Given the description of an element on the screen output the (x, y) to click on. 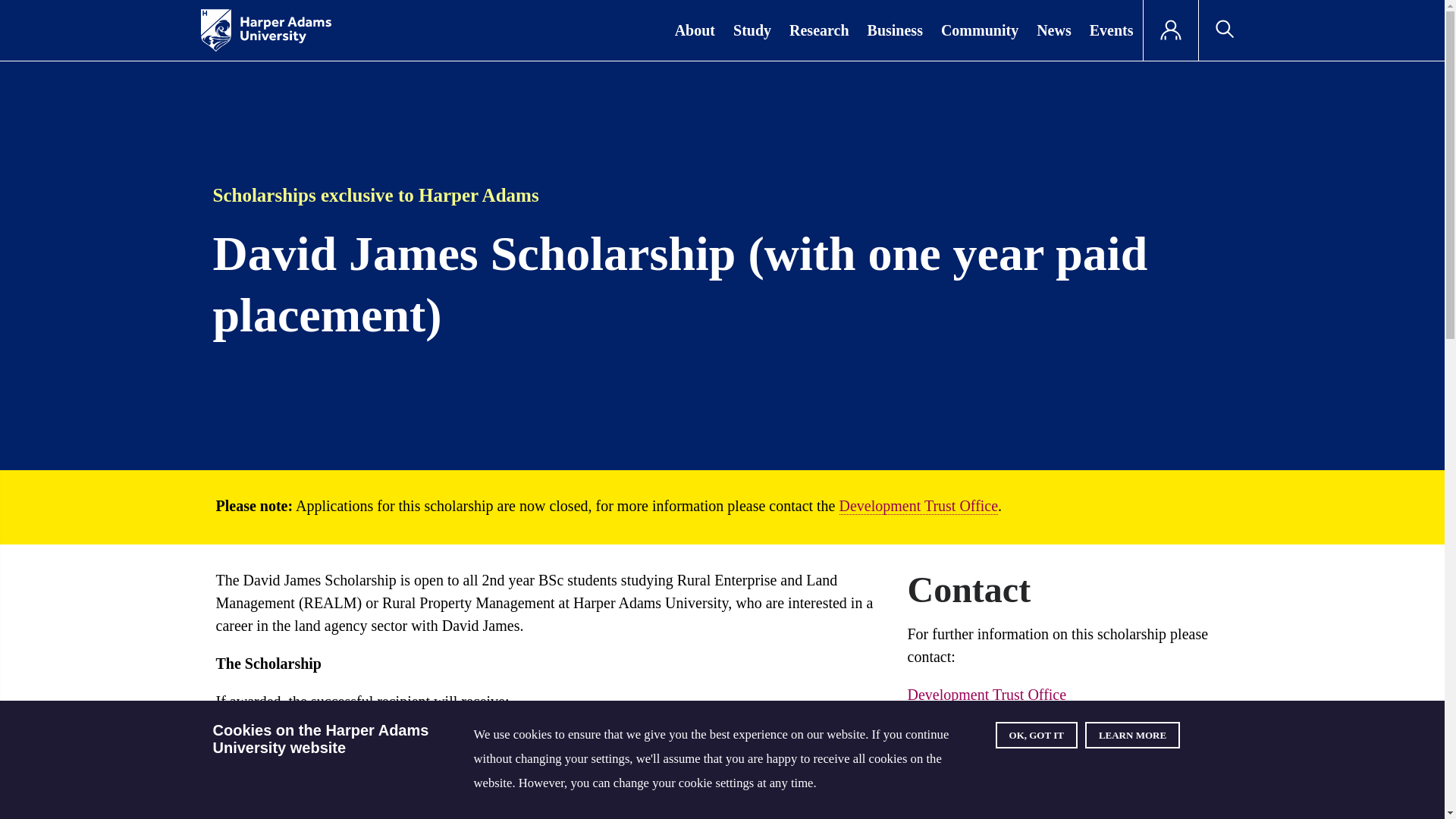
Research (819, 30)
Study (751, 30)
About (694, 30)
Business (895, 30)
Events (1111, 30)
Community (979, 30)
